Given the description of an element on the screen output the (x, y) to click on. 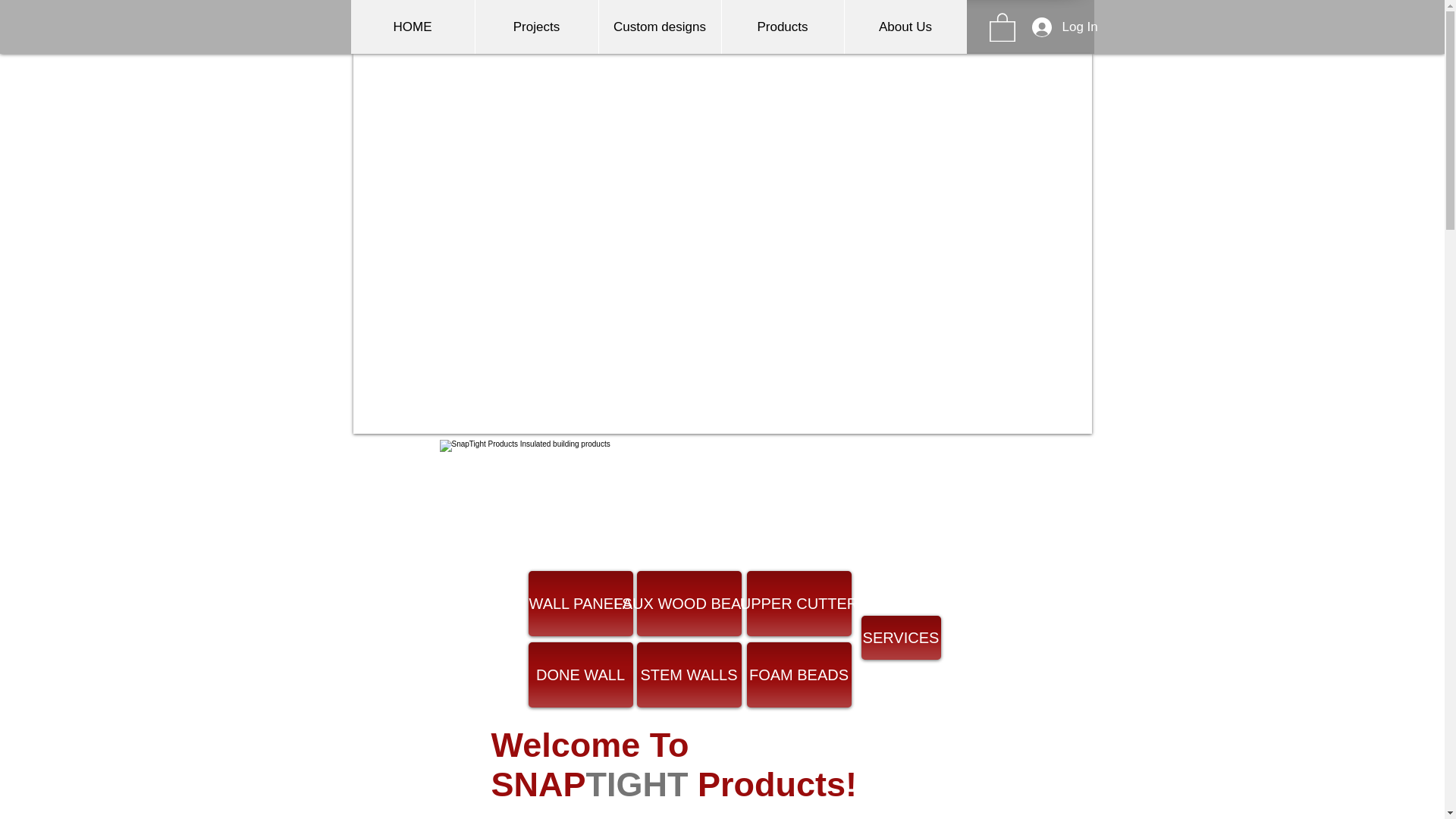
HOME (412, 27)
FAUX WOOD BEAMS (689, 603)
STEM WALLS (689, 674)
About Us (904, 27)
DONE WALL (579, 674)
UPPER CUTTER (797, 603)
SERVICES (900, 637)
Projects (536, 27)
Log In (1038, 26)
FOAM BEADS (797, 674)
Custom designs (658, 27)
WALL PANELS (579, 603)
